Given the description of an element on the screen output the (x, y) to click on. 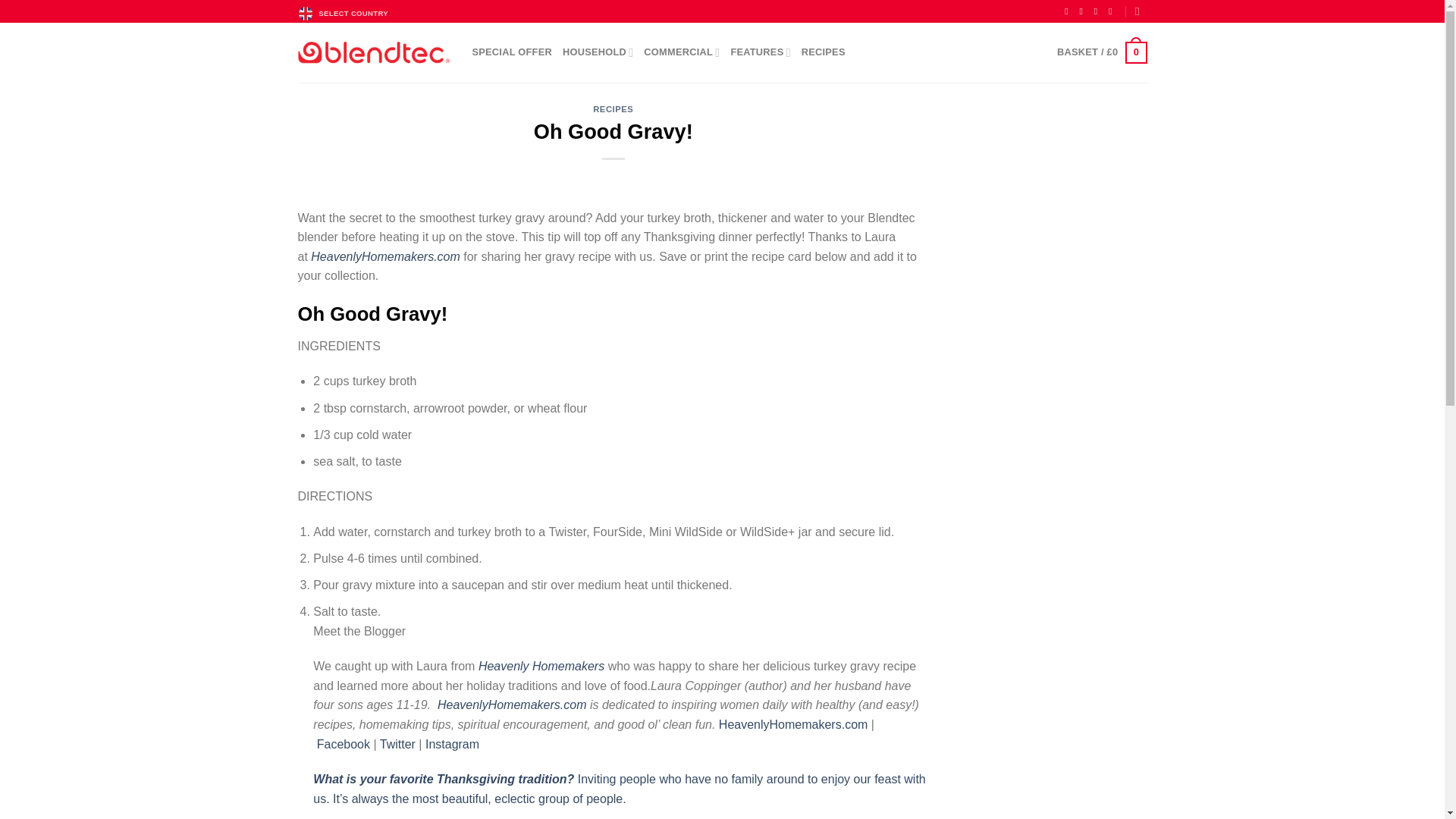
Blendtec UK - A BLENDER AS POWERFUL AS YOUR AMBITION (372, 52)
COMMERCIAL (681, 51)
   SELECT COUNTRY (342, 13)
SPECIAL OFFER (511, 51)
HOUSEHOLD (597, 51)
Basket (1102, 52)
